Given the description of an element on the screen output the (x, y) to click on. 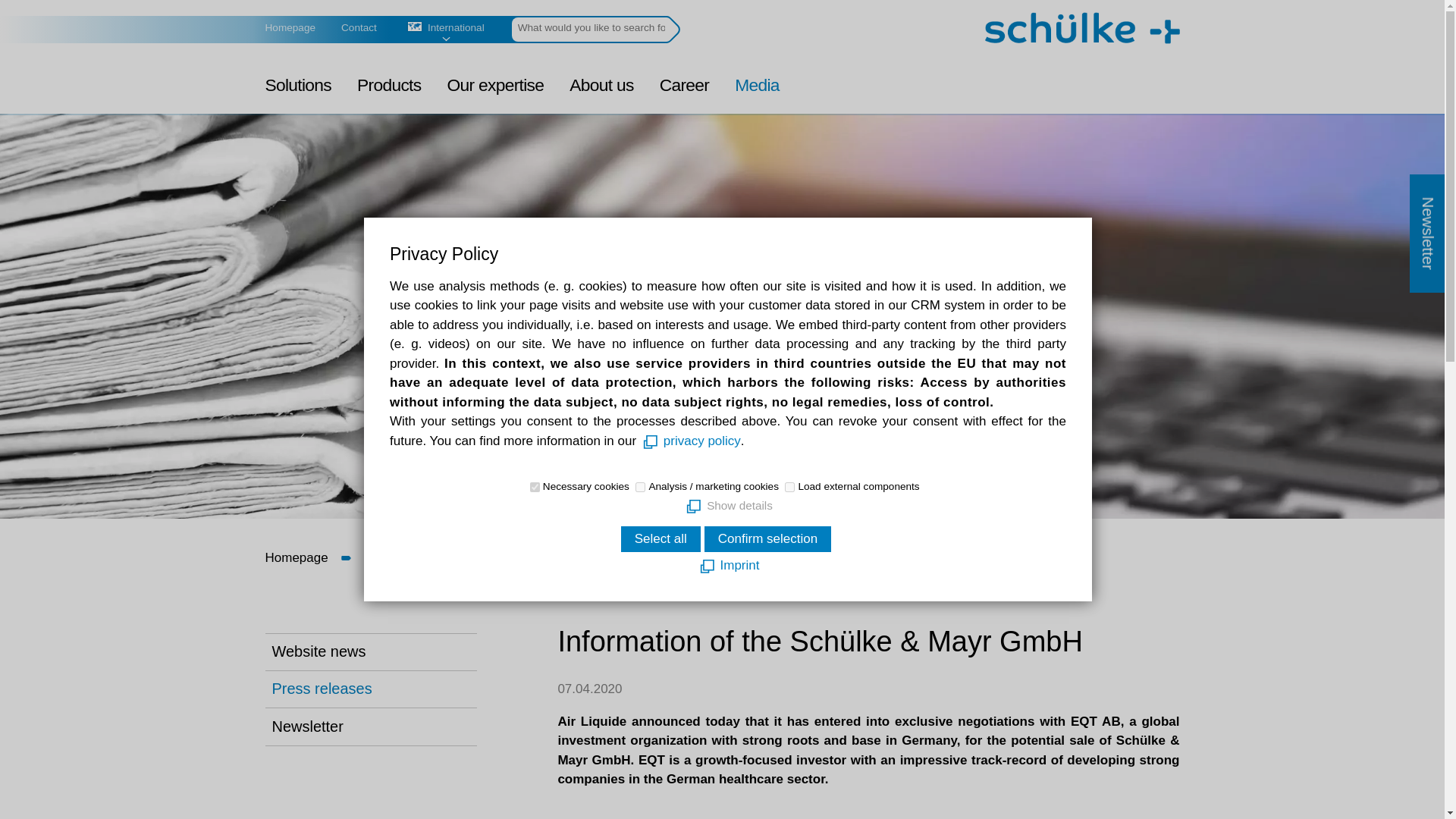
1 (789, 487)
1 (639, 487)
International (414, 26)
Solutions (297, 89)
Contact (359, 29)
Homepage (290, 29)
1 (534, 487)
